Given the description of an element on the screen output the (x, y) to click on. 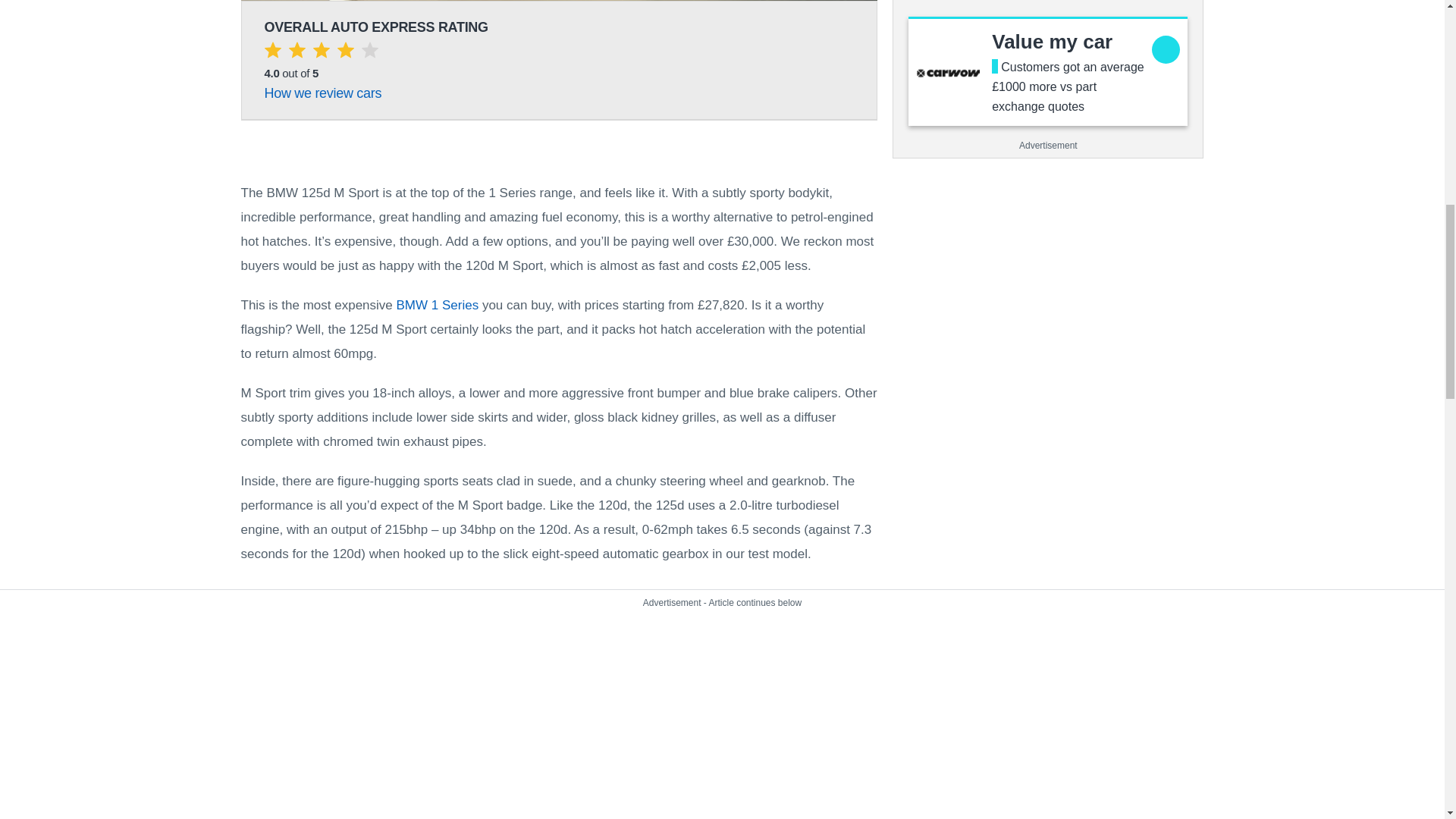
4 Stars (320, 52)
8 (1051, 41)
BMW 1 Series (322, 92)
